Given the description of an element on the screen output the (x, y) to click on. 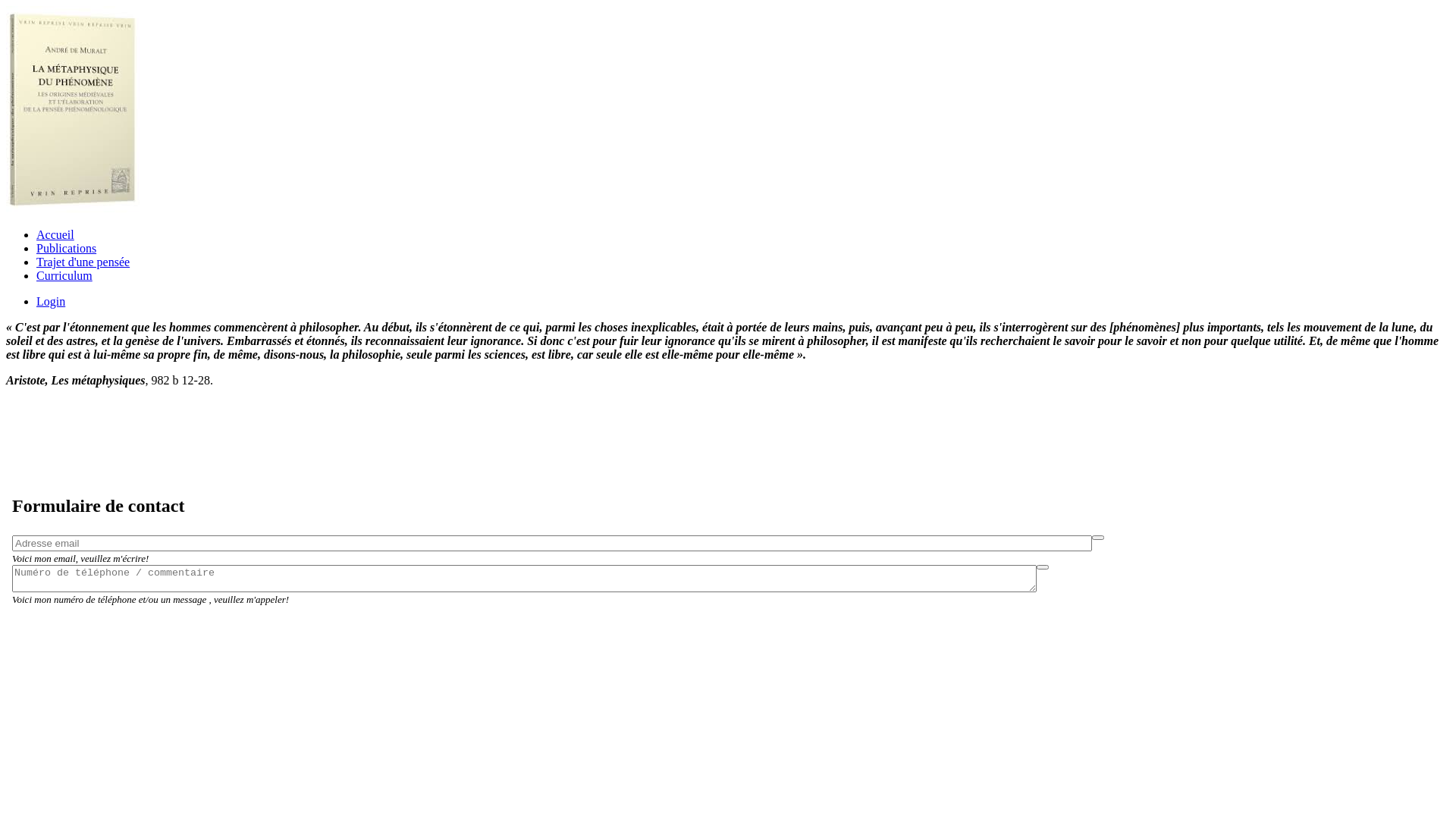
Accueil Element type: text (55, 234)
Publications Element type: text (66, 247)
Curriculum Element type: text (64, 275)
Login Element type: text (50, 300)
